Given the description of an element on the screen output the (x, y) to click on. 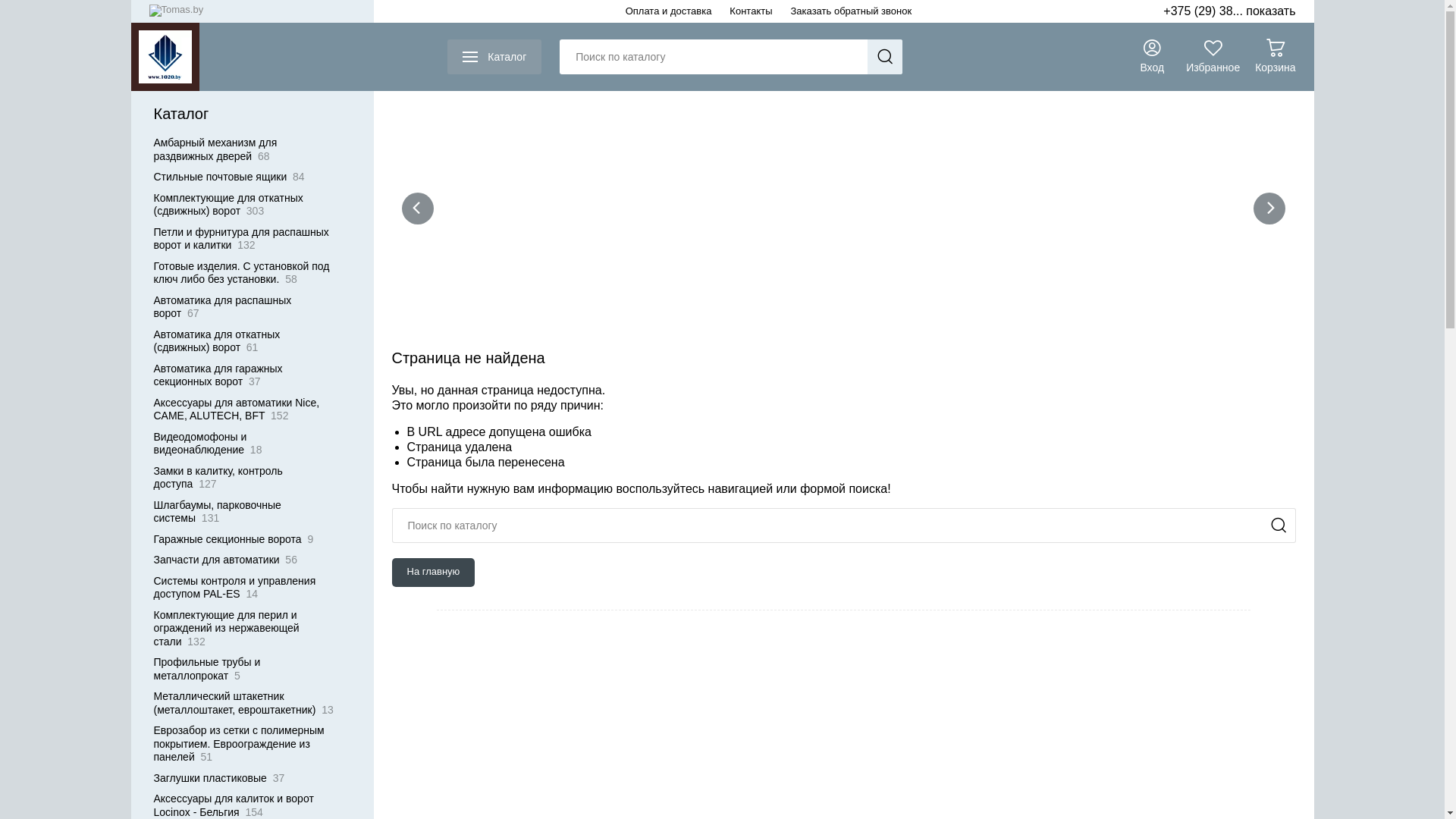
1020.by Element type: hover (164, 56)
